Given the description of an element on the screen output the (x, y) to click on. 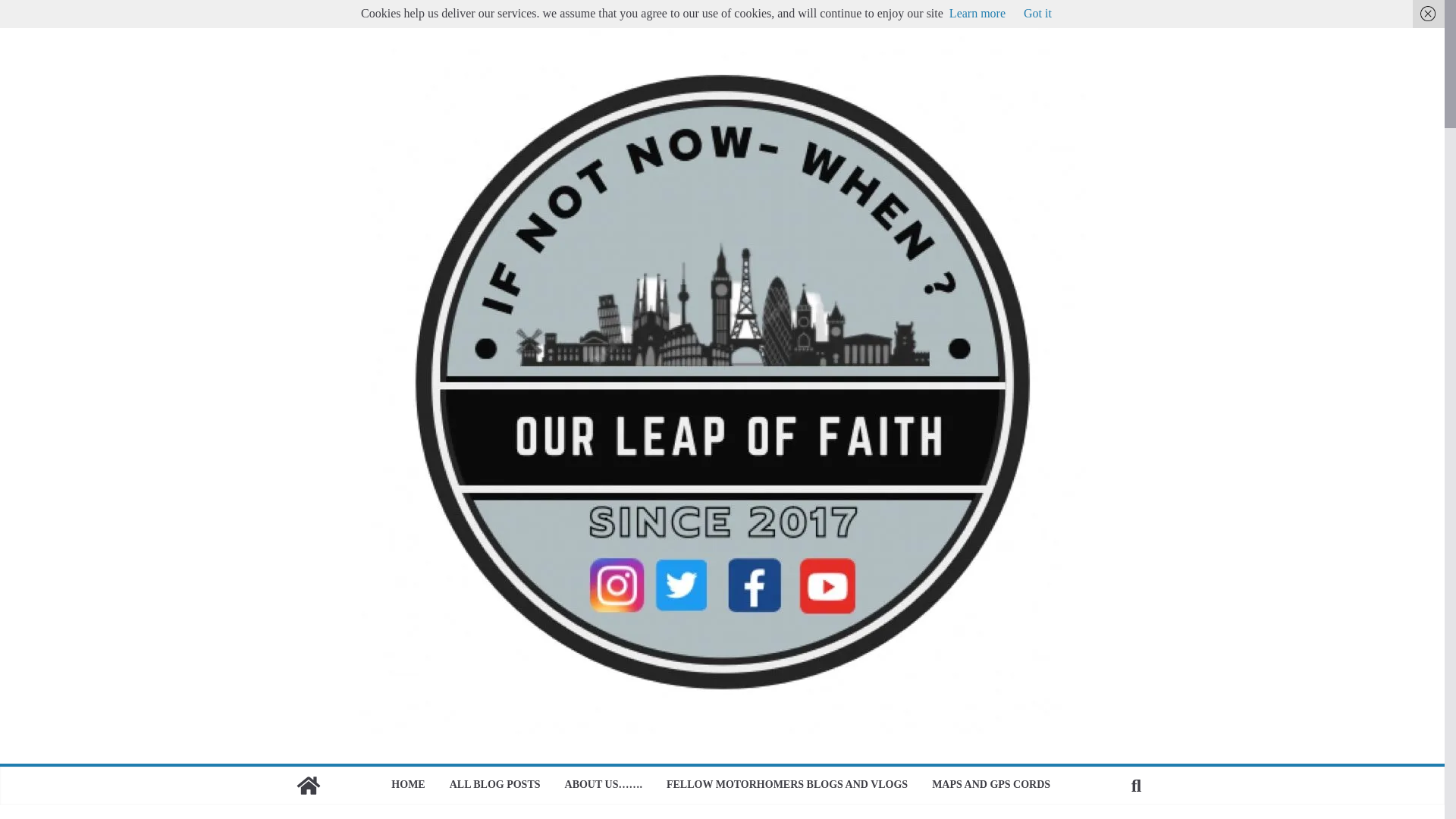
ALL BLOG POSTS (494, 784)
MAPS AND GPS CORDS  (991, 784)
FELLOW MOTORHOMERS BLOGS AND VLOGS (786, 784)
HOME (408, 784)
